Given the description of an element on the screen output the (x, y) to click on. 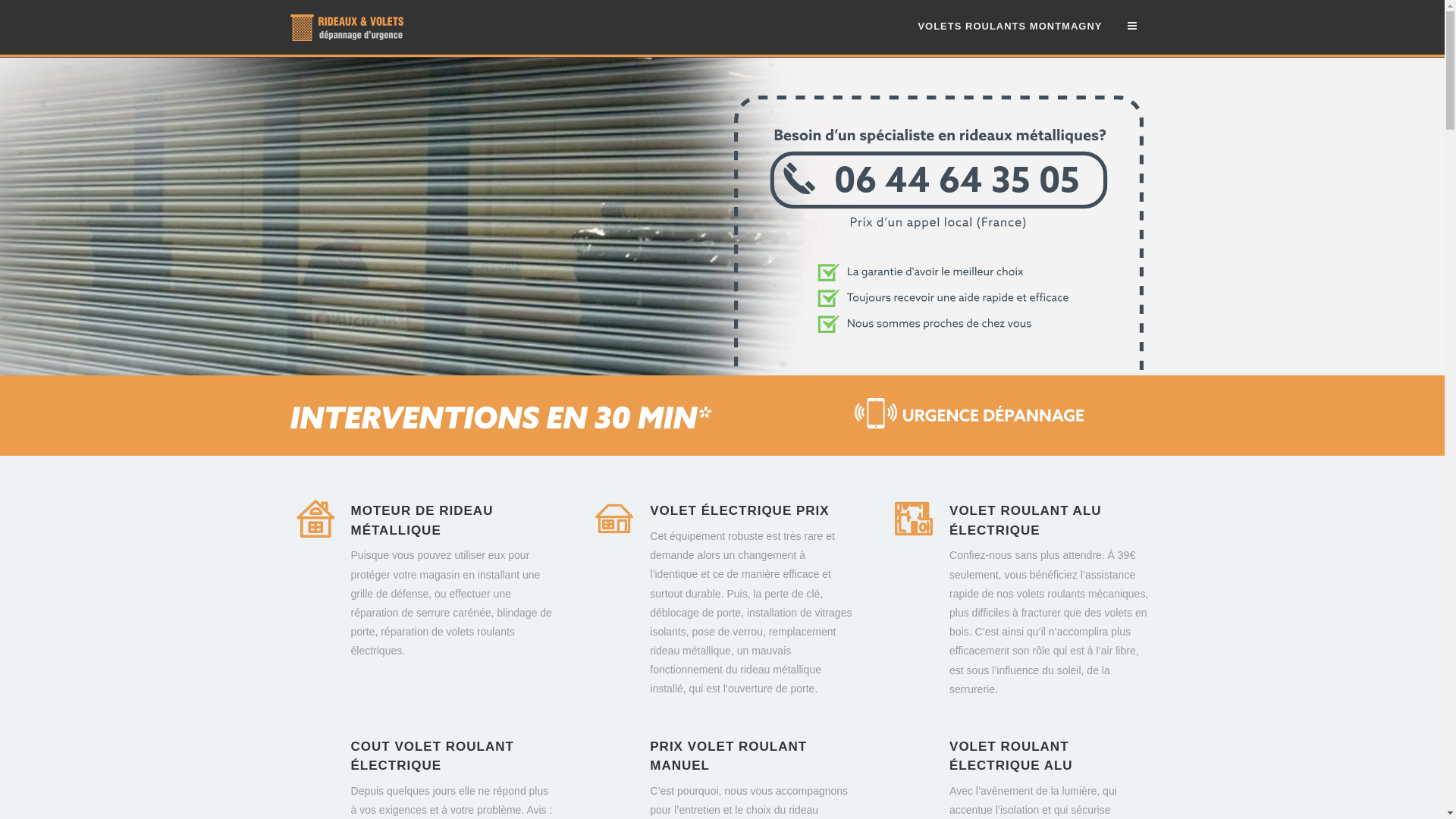
06 44 64 35 05 Element type: text (938, 366)
VOLETS ROULANTS MONTMAGNY Element type: text (1009, 26)
PRIX VOLET ROULANT MANUEL Element type: text (727, 756)
